Given the description of an element on the screen output the (x, y) to click on. 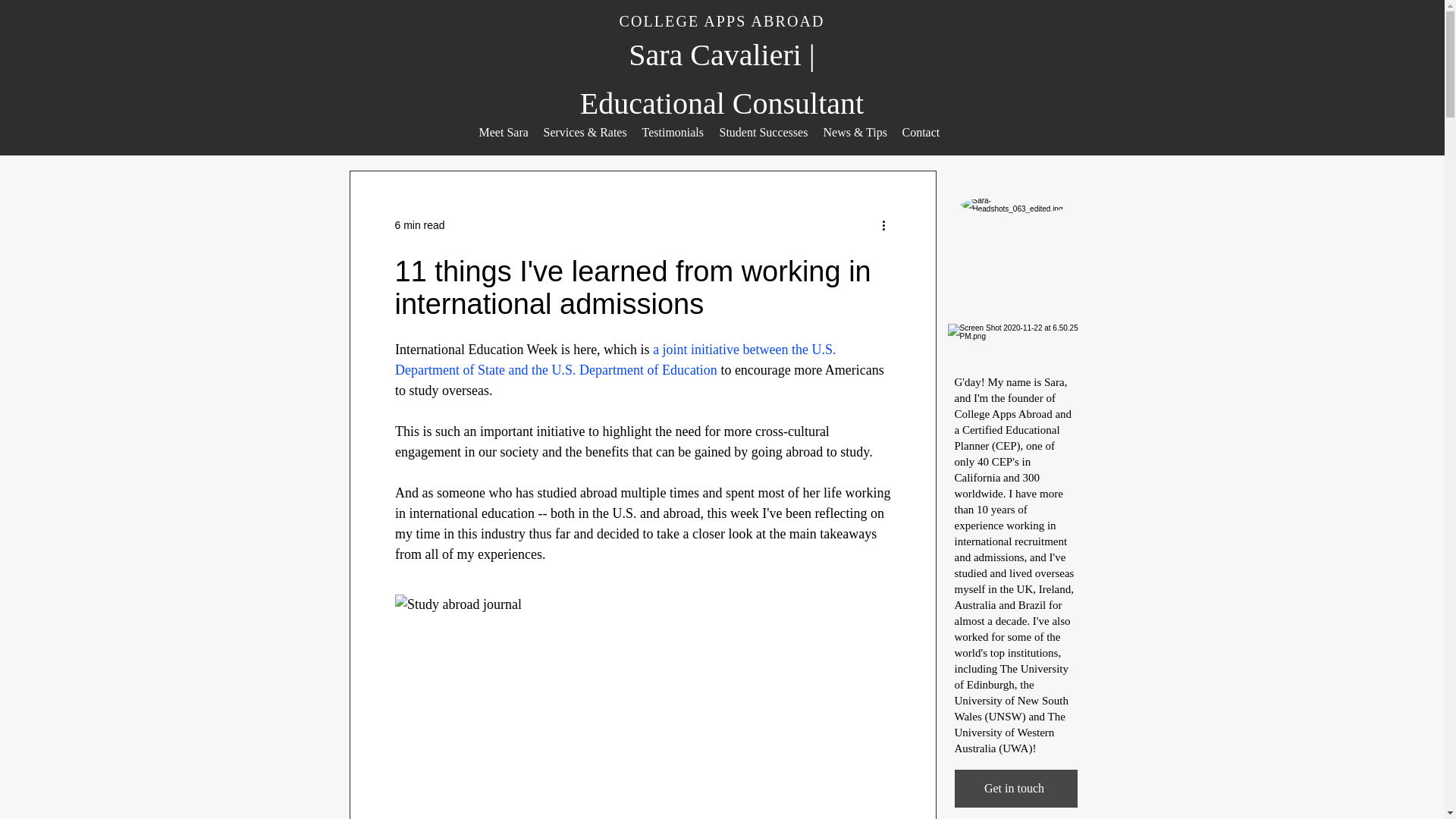
Get in touch (1015, 788)
COLLEGE APPS ABROAD (721, 21)
Testimonials (672, 132)
Student Successes (763, 132)
Meet Sara (503, 132)
Contact (921, 132)
6 min read (419, 224)
